Given the description of an element on the screen output the (x, y) to click on. 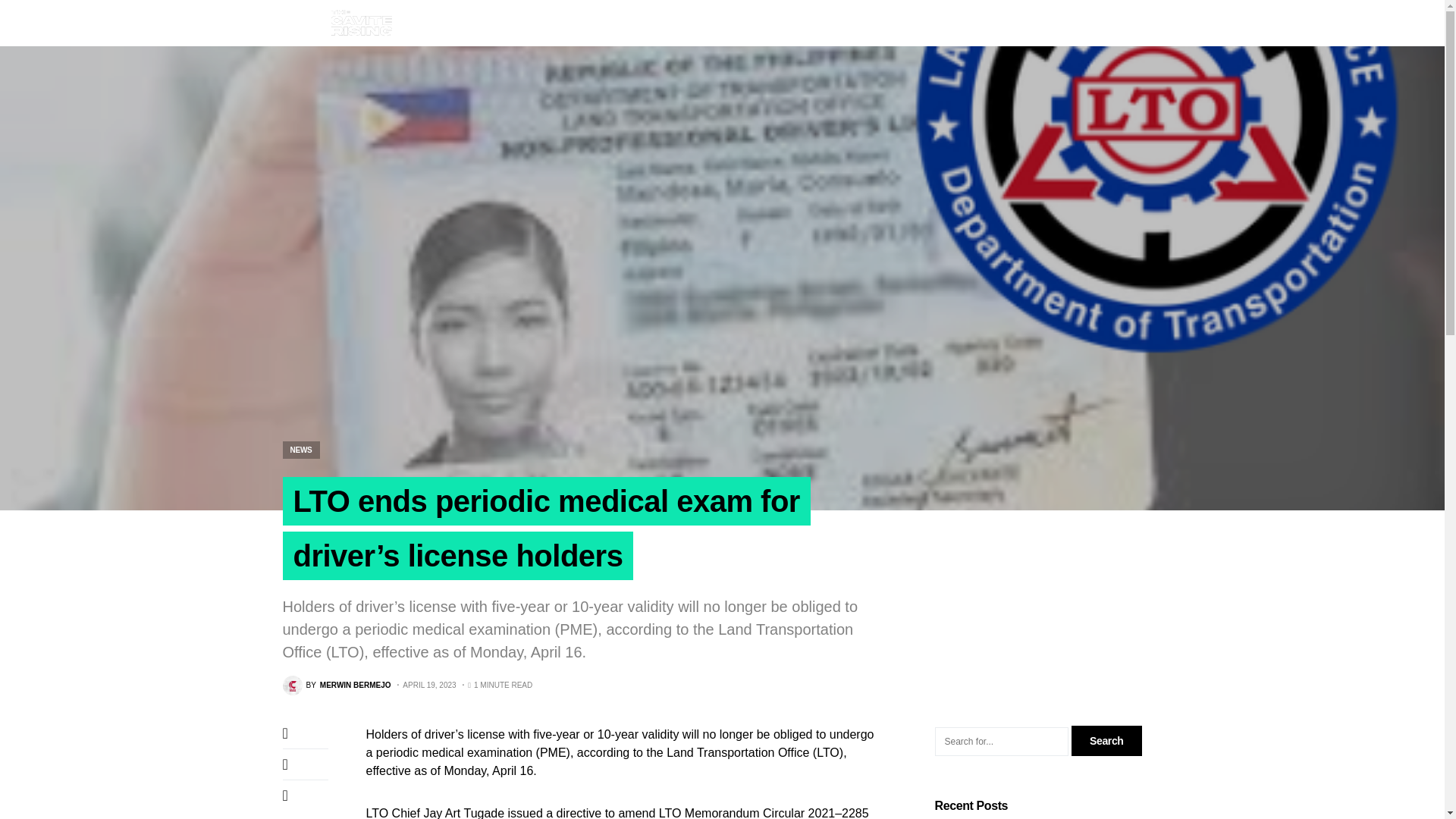
View all posts by Merwin Bermejo (336, 685)
Search for... (1000, 741)
Search (1106, 740)
Search (1106, 740)
